Given the description of an element on the screen output the (x, y) to click on. 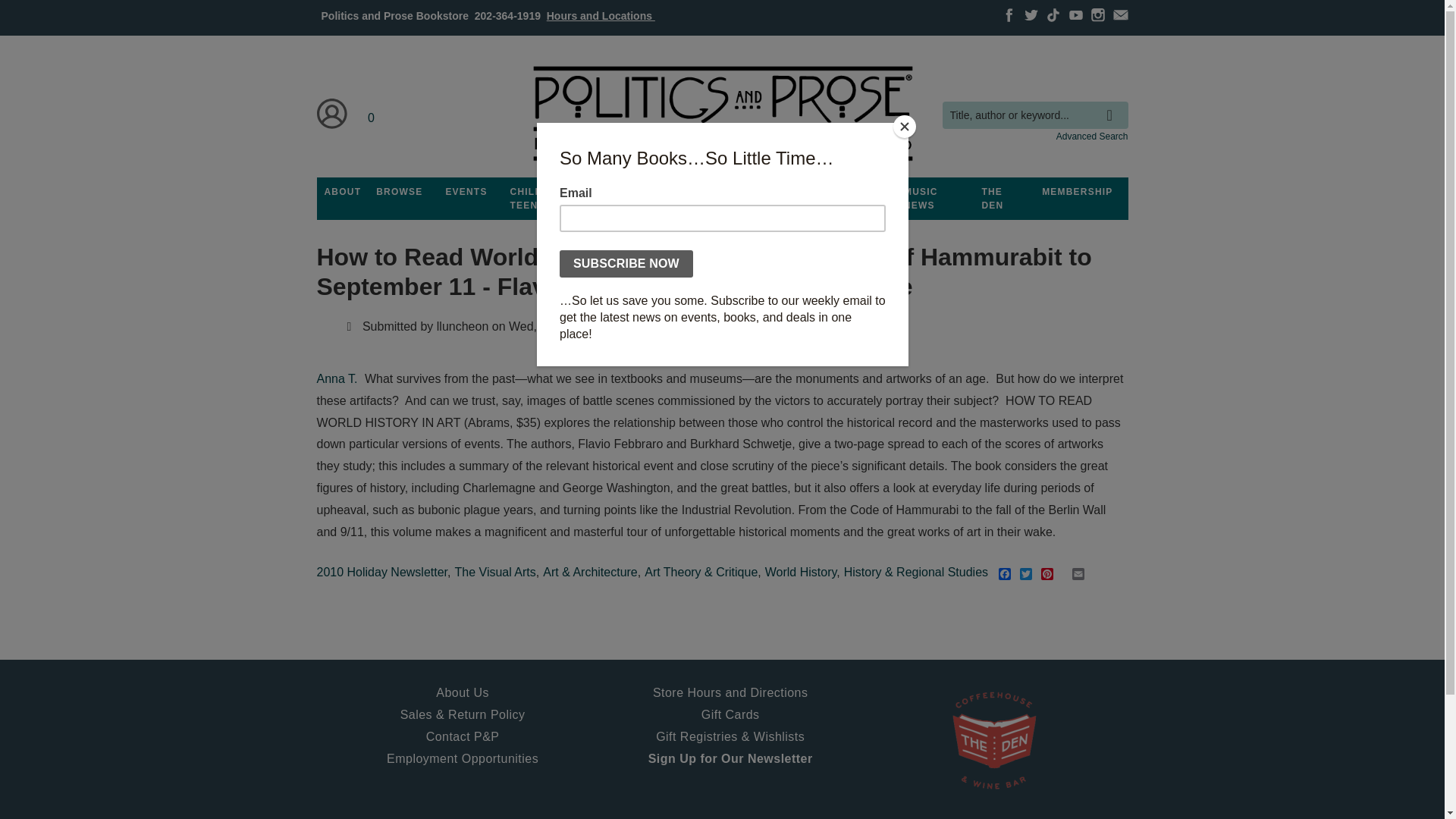
Advanced Search (1092, 136)
Hours and Locations  (601, 15)
SERVICES (808, 191)
See information about our programs (633, 191)
SUBSCRIPTIONS (722, 191)
BROWSE (398, 191)
See our event calendar (465, 191)
Title, author or keyword... (1034, 115)
Browse our shelves (398, 191)
See our store ours and locations (601, 15)
search (1112, 103)
ABOUT (343, 191)
PROGRAMS (633, 191)
EVENTS (465, 191)
